Given the description of an element on the screen output the (x, y) to click on. 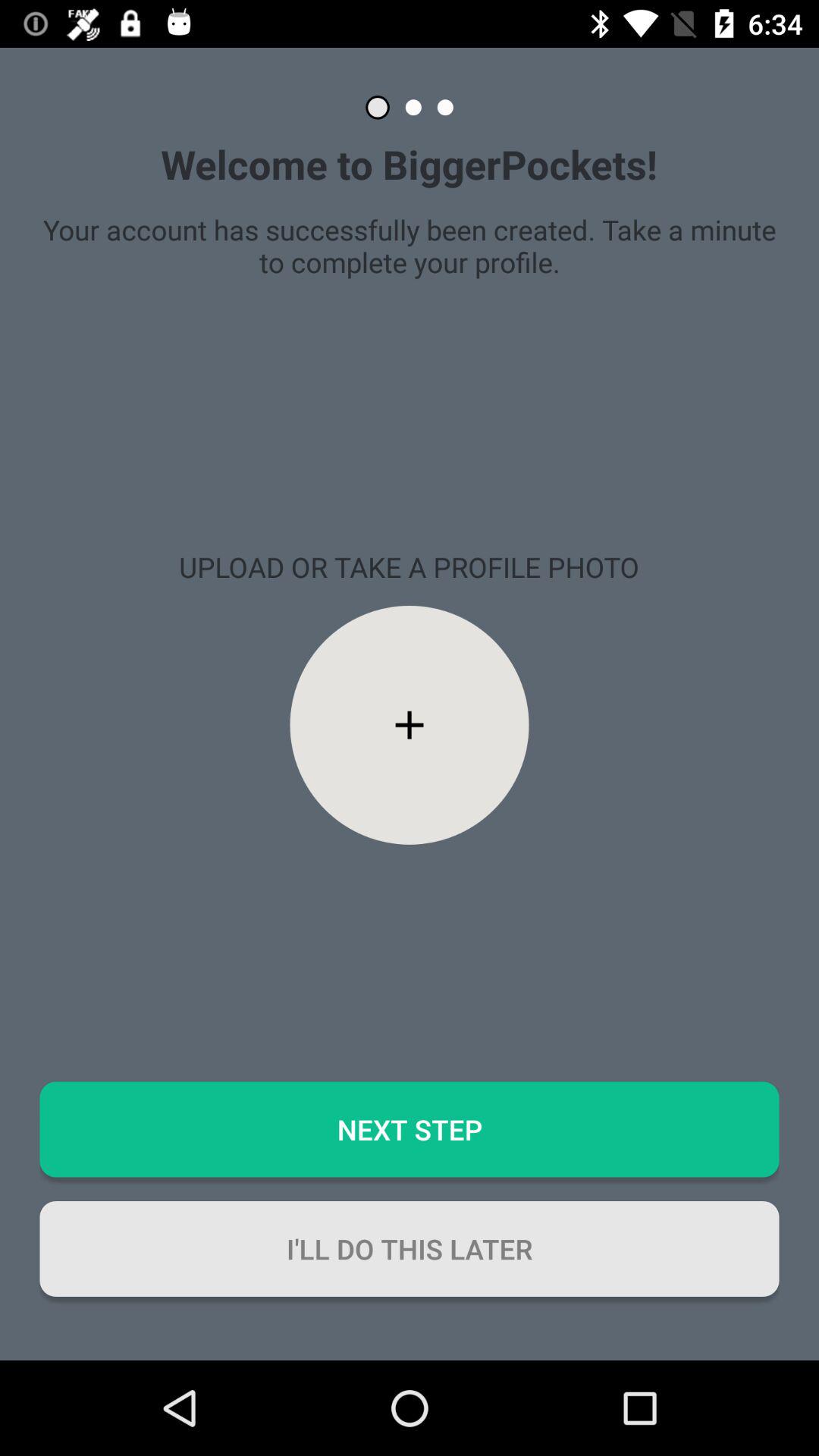
select item below next step item (409, 1248)
